Given the description of an element on the screen output the (x, y) to click on. 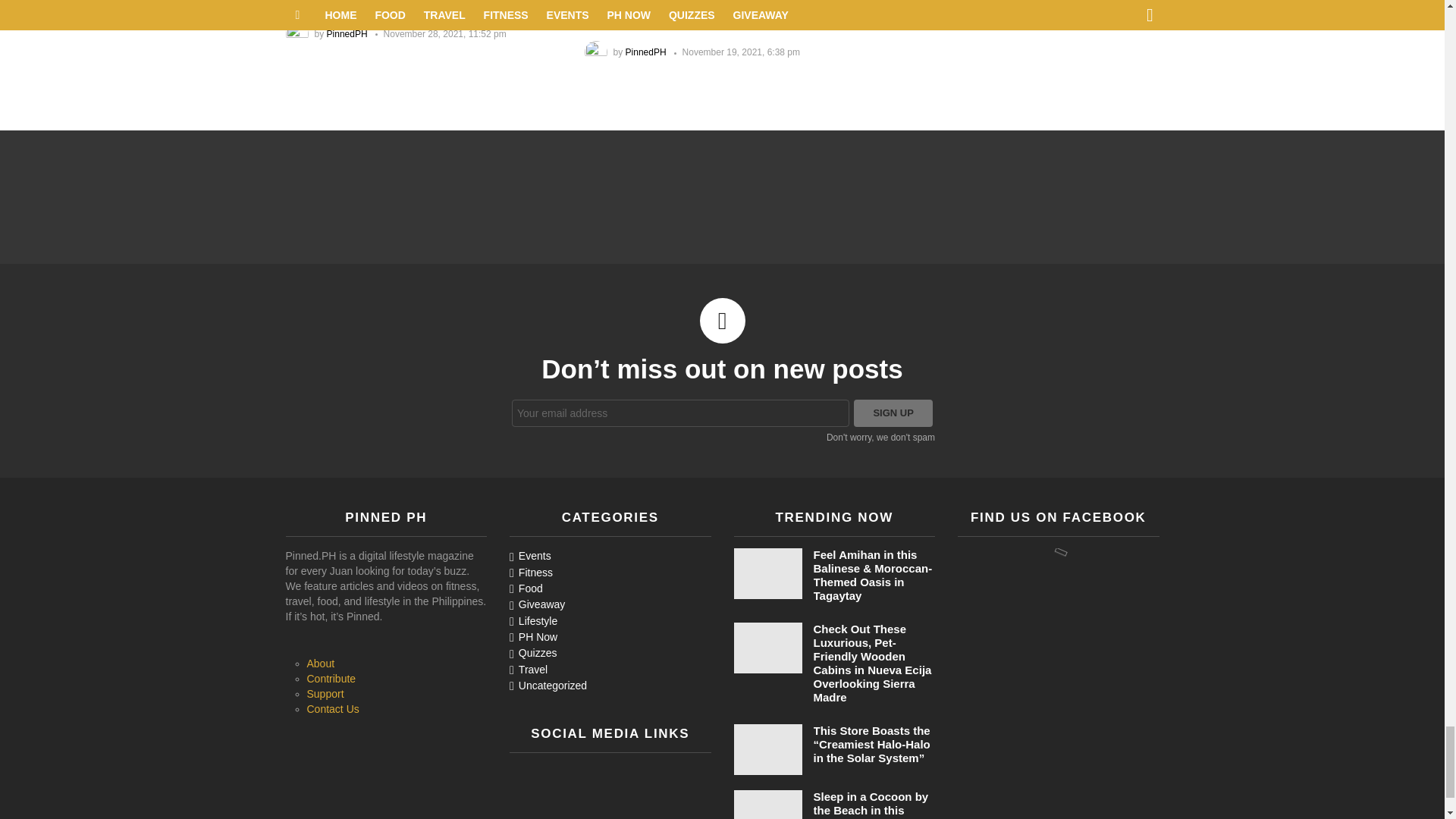
Sign up (893, 412)
